Given the description of an element on the screen output the (x, y) to click on. 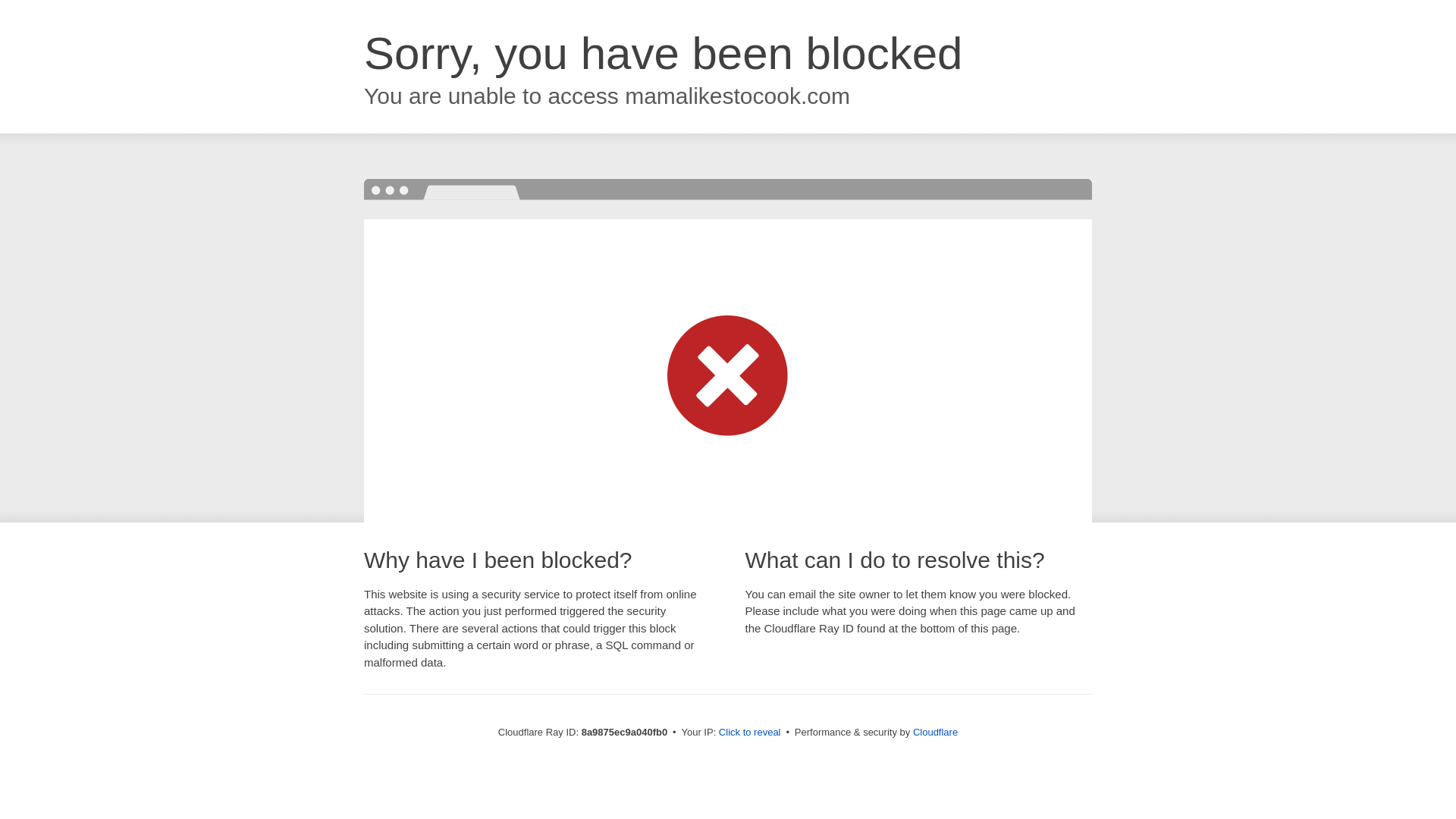
Click to reveal (749, 732)
Cloudflare (935, 731)
